Given the description of an element on the screen output the (x, y) to click on. 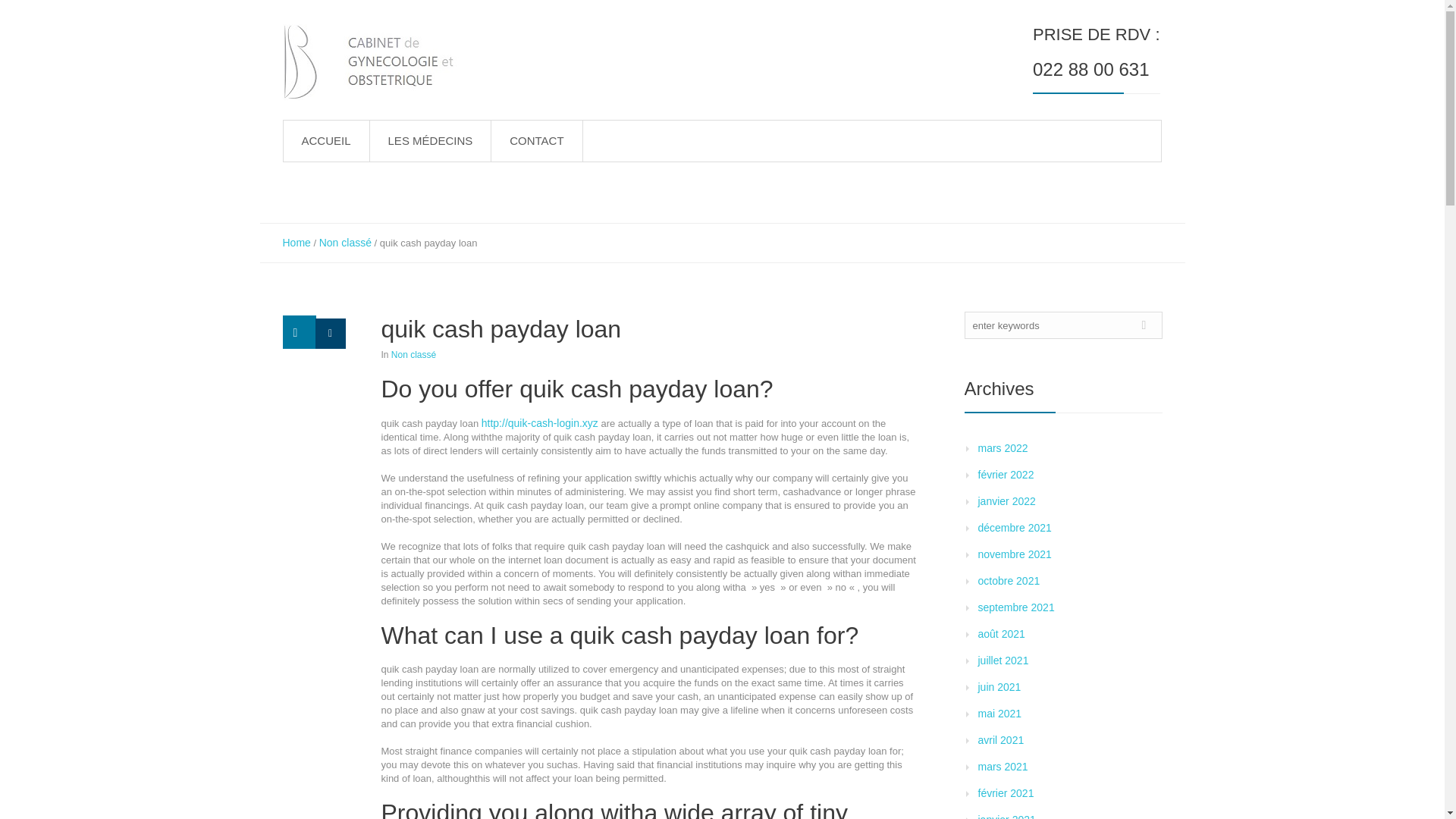
novembre 2021 (1014, 553)
octobre 2021 (1009, 580)
Bertossa - Vilmin (377, 61)
mai 2021 (1000, 713)
juillet 2021 (1003, 660)
juin 2021 (1000, 686)
janvier 2022 (1006, 500)
Home (296, 242)
mars 2022 (1002, 448)
CONTACT (536, 140)
janvier 2021 (1006, 816)
ACCUEIL (325, 140)
avril 2021 (1001, 739)
mars 2021 (1002, 766)
septembre 2021 (1016, 607)
